Given the description of an element on the screen output the (x, y) to click on. 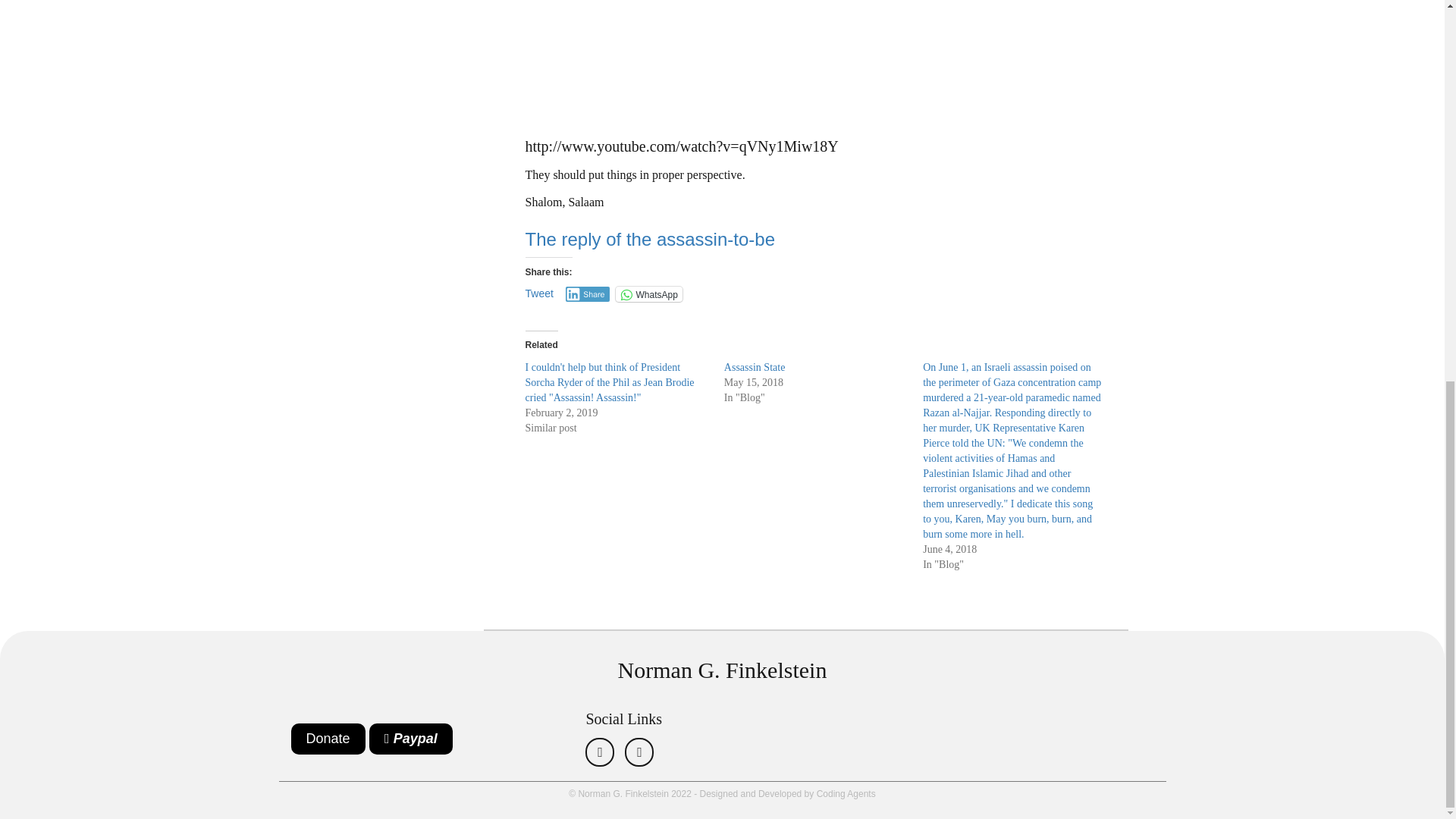
Assassin State (754, 367)
WhatsApp (648, 294)
Click to share on WhatsApp (648, 294)
Share (588, 294)
Whitney Houston I Will Always Love You live in Chile (714, 62)
Norman G. Finkelstein (722, 669)
Paypal (410, 738)
The reply of the assassin-to-be (649, 239)
Assassin State (754, 367)
Donate (328, 738)
Tweet (538, 293)
